Given the description of an element on the screen output the (x, y) to click on. 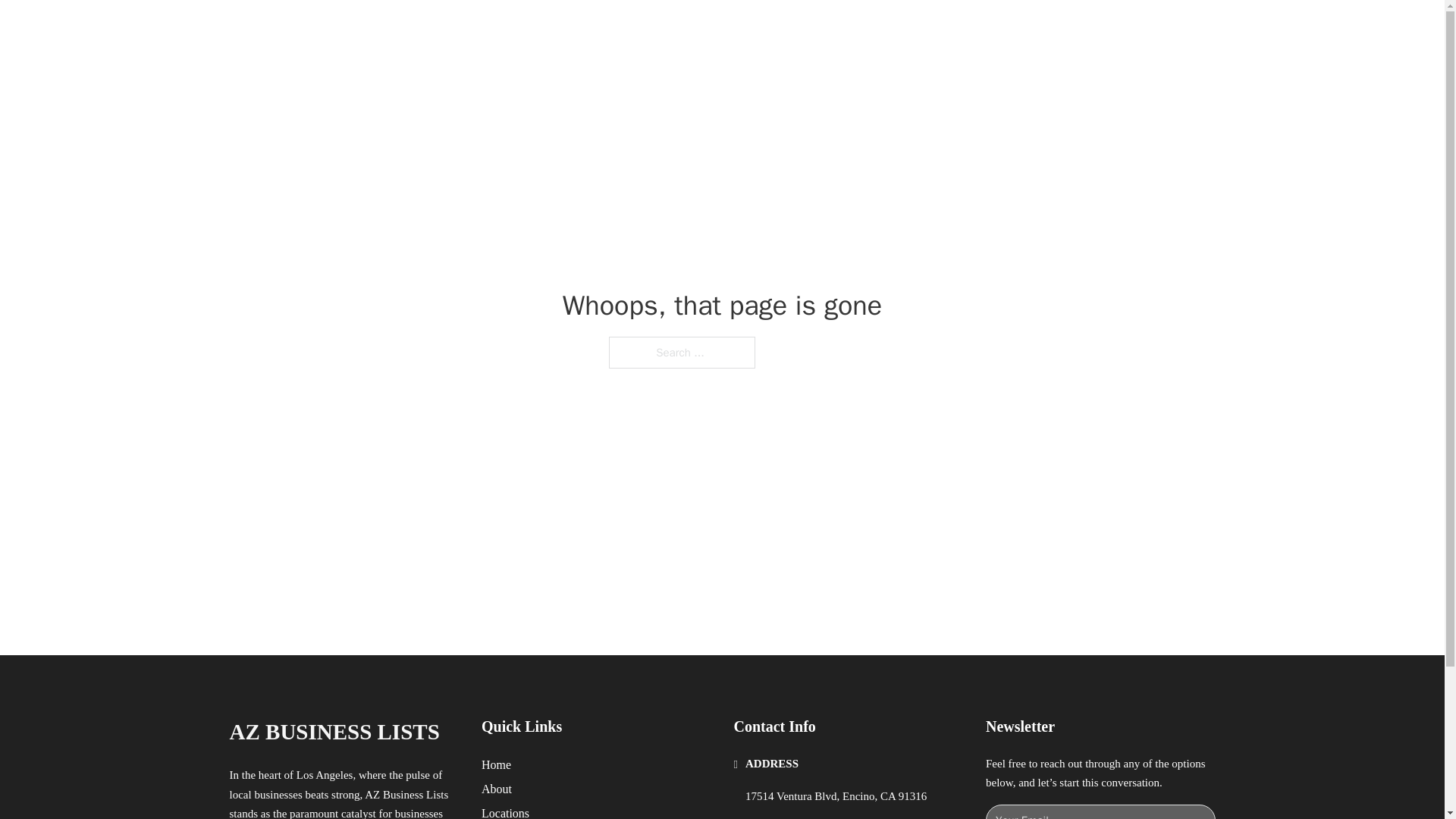
LOCATIONS (990, 29)
Home (496, 764)
Locations (505, 811)
About (496, 788)
AZ BUSINESS LISTS (409, 28)
AZ BUSINESS LISTS (333, 732)
HOME (919, 29)
